Given the description of an element on the screen output the (x, y) to click on. 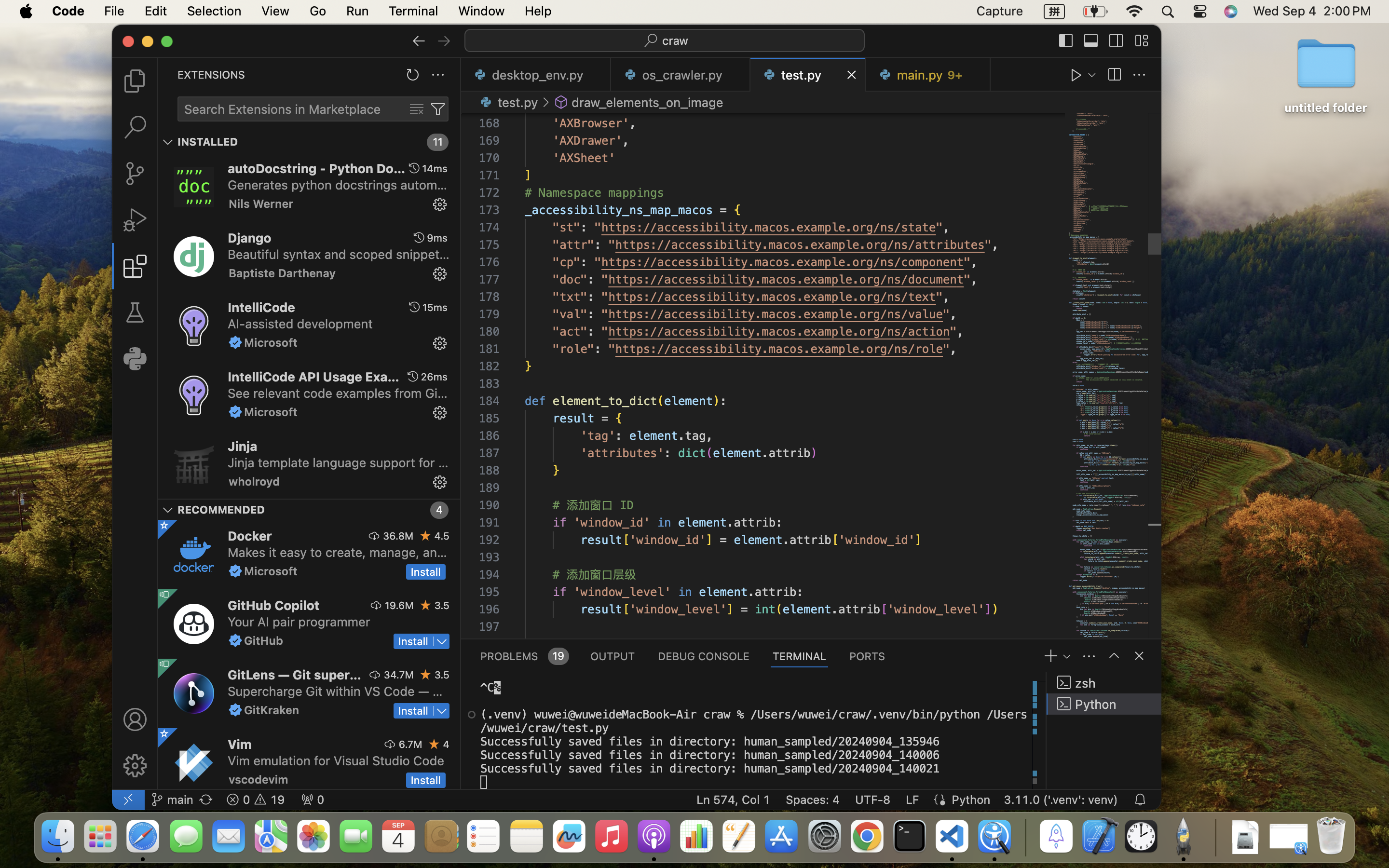
AI-assisted development Element type: AXStaticText (300, 323)
RECOMMENDED Element type: AXStaticText (221, 509)
 Element type: AXStaticText (414, 168)
GitKraken Element type: AXStaticText (271, 709)
 Element type: AXButton (444, 40)
